Given the description of an element on the screen output the (x, y) to click on. 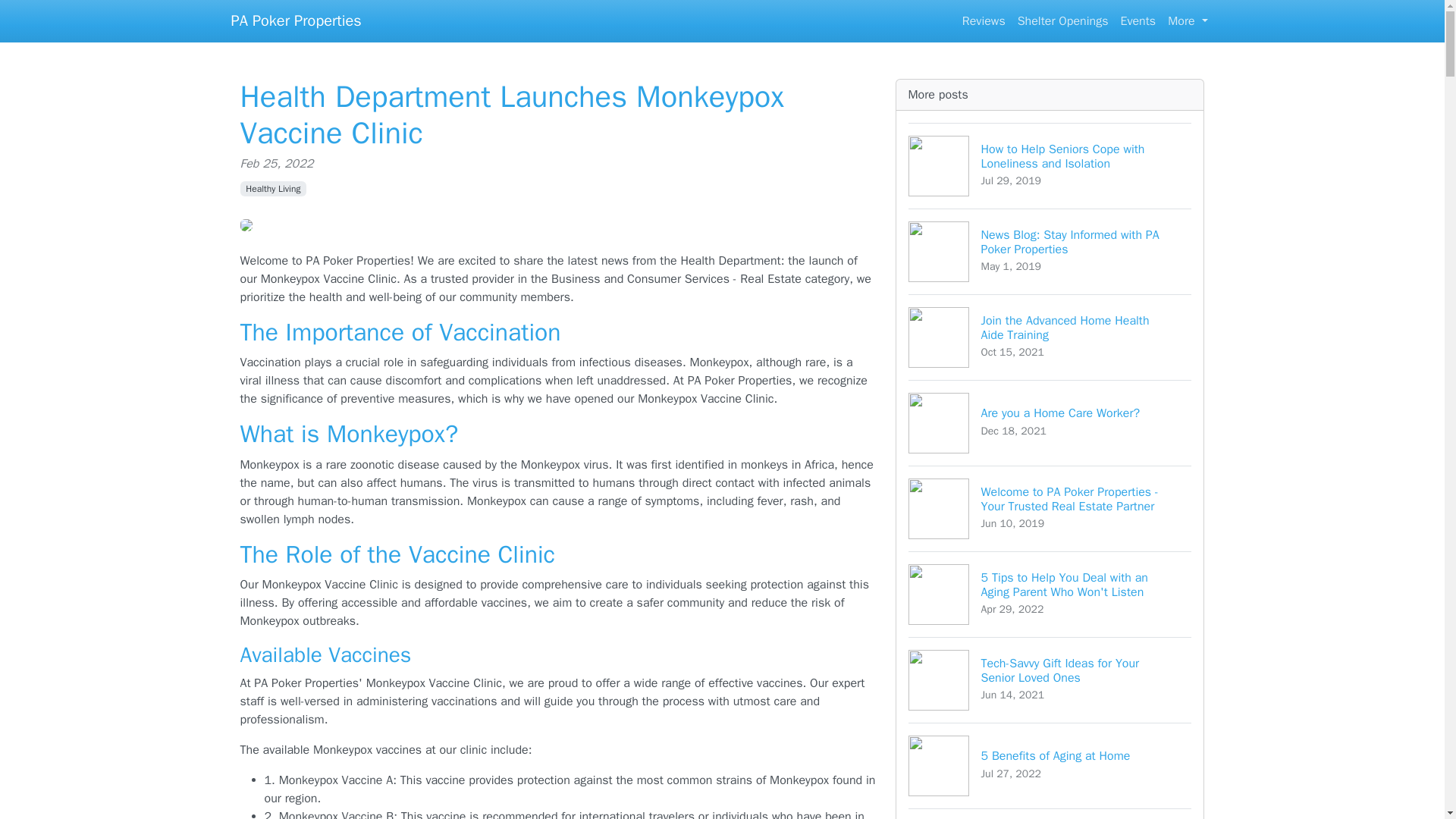
Reviews (1050, 423)
Events (983, 20)
Shelter Openings (1138, 20)
Healthy Living (1050, 813)
PA Poker Properties (1063, 20)
More (1050, 337)
